Given the description of an element on the screen output the (x, y) to click on. 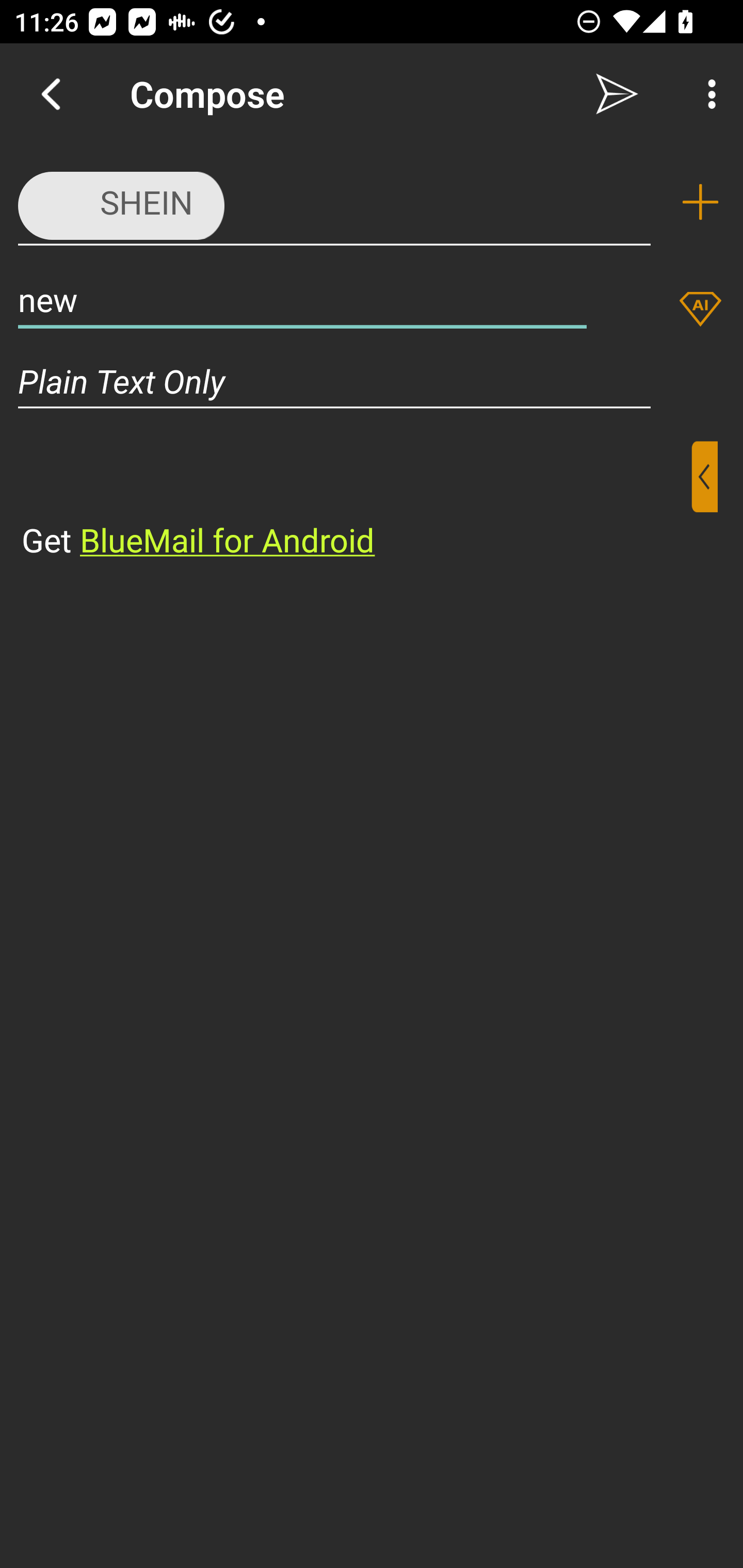
Navigate up (50, 93)
Send (616, 93)
More Options (706, 93)
SHEIN <shein@usmail.shein.com>,  (334, 201)
Add recipient (To) (699, 201)
new (302, 299)
Plain Text Only (371, 380)


⁣Get BlueMail for Android ​ (355, 501)
